Given the description of an element on the screen output the (x, y) to click on. 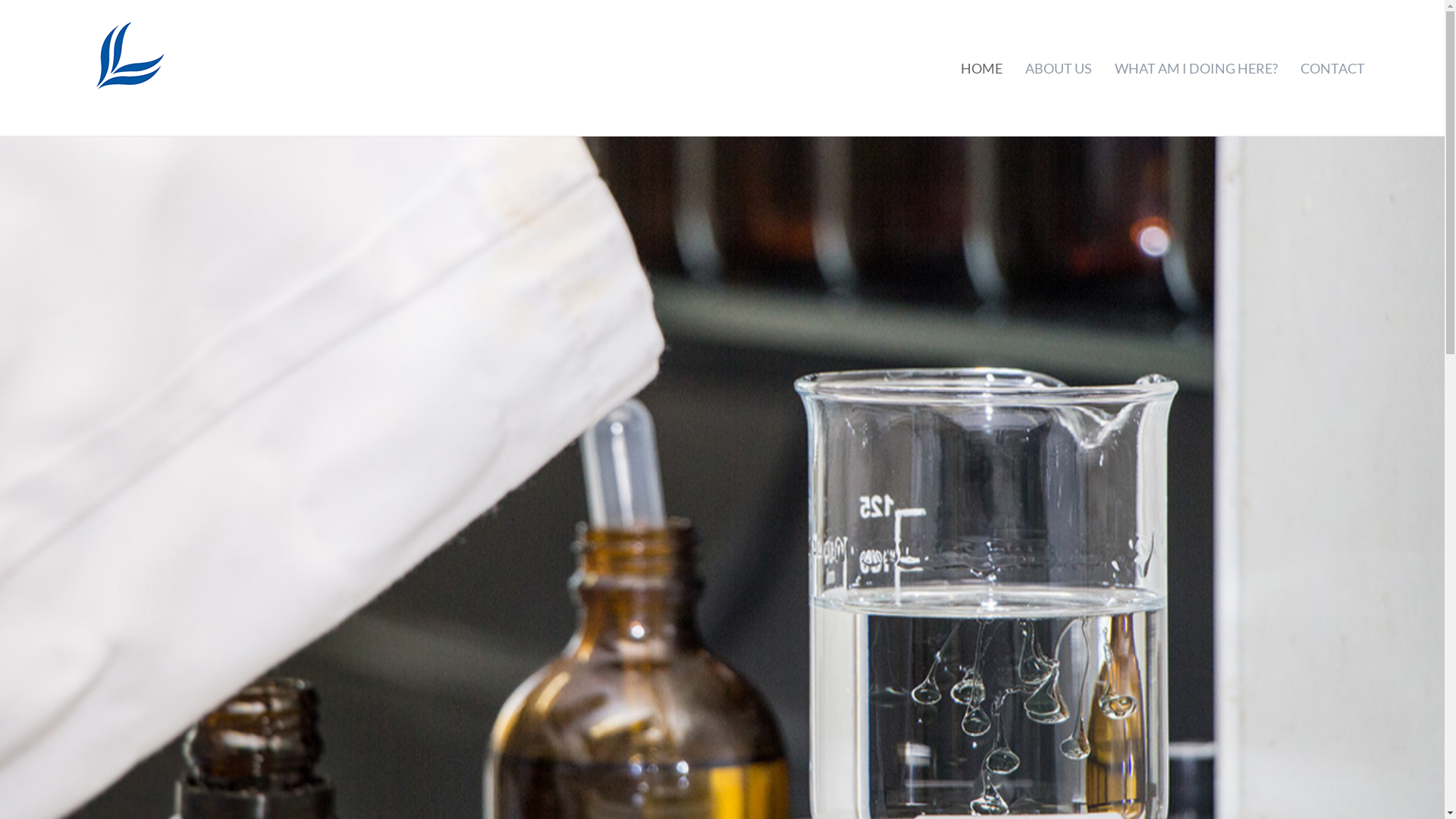
ABOUT US Element type: text (1058, 68)
HOME Element type: text (981, 68)
WHAT AM I DOING HERE? Element type: text (1196, 68)
CONTACT Element type: text (1332, 68)
